Given the description of an element on the screen output the (x, y) to click on. 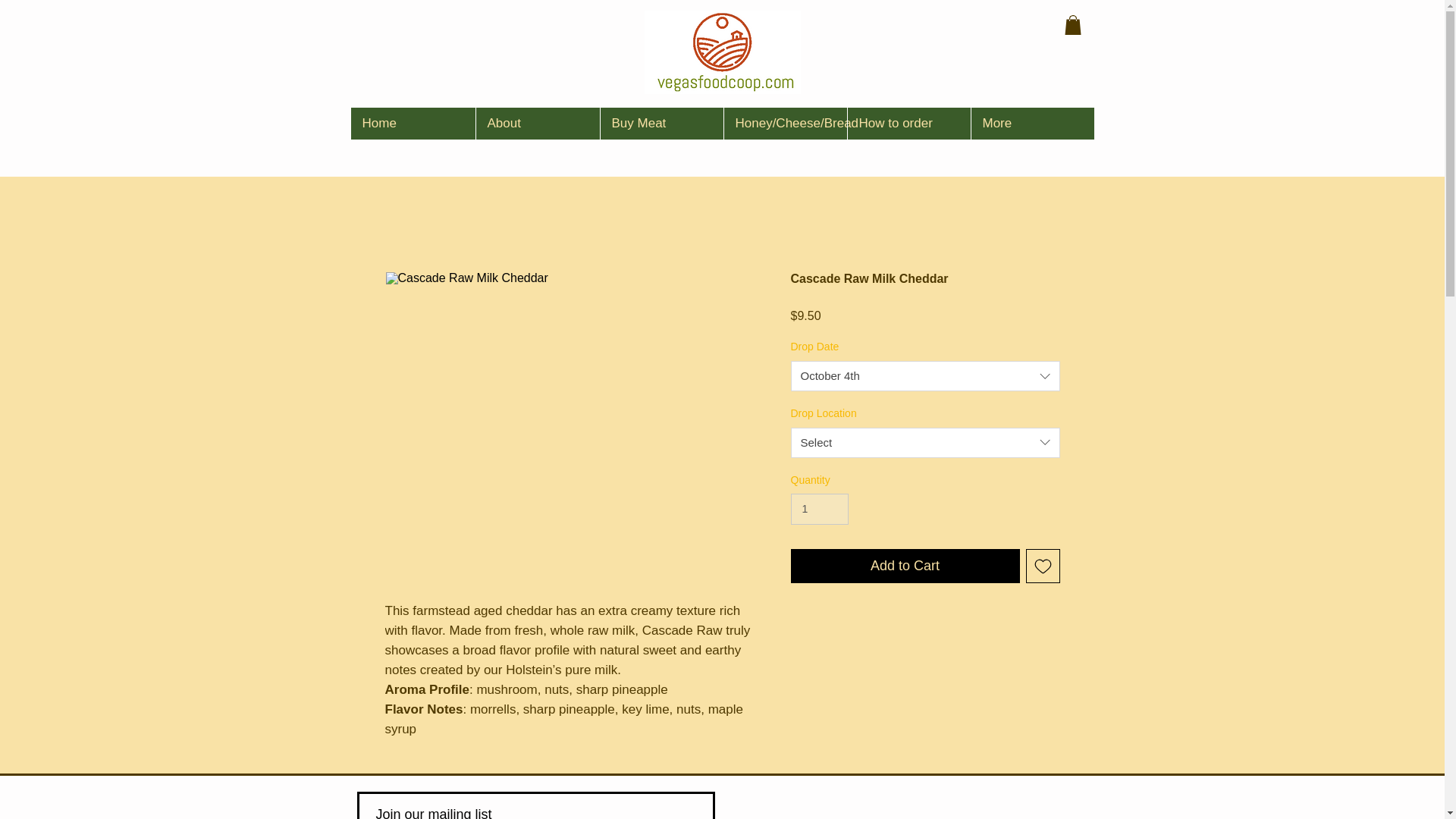
Buy Meat (660, 123)
About (536, 123)
How to order (907, 123)
Select (924, 442)
Home (412, 123)
1 (818, 508)
Add to Cart (904, 565)
October 4th (924, 376)
